Given the description of an element on the screen output the (x, y) to click on. 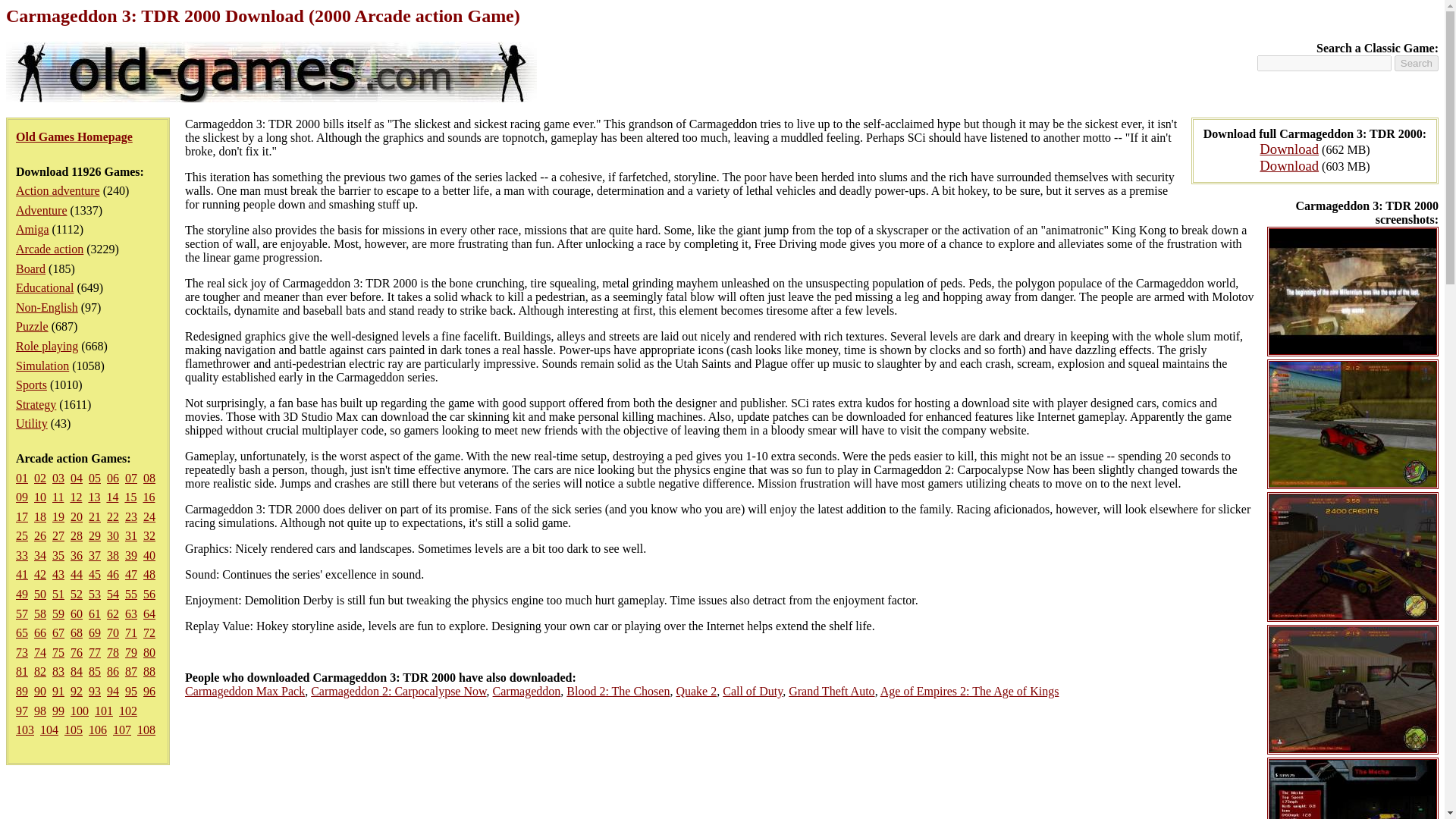
07 (130, 477)
14 (111, 496)
22 (112, 516)
Educational (45, 287)
23 (130, 516)
25 (21, 535)
Action adventure (58, 190)
21 (94, 516)
15 (129, 496)
16 (148, 496)
01 (21, 477)
19 (58, 516)
Non-English (47, 307)
Simulation (42, 365)
06 (112, 477)
